Given the description of an element on the screen output the (x, y) to click on. 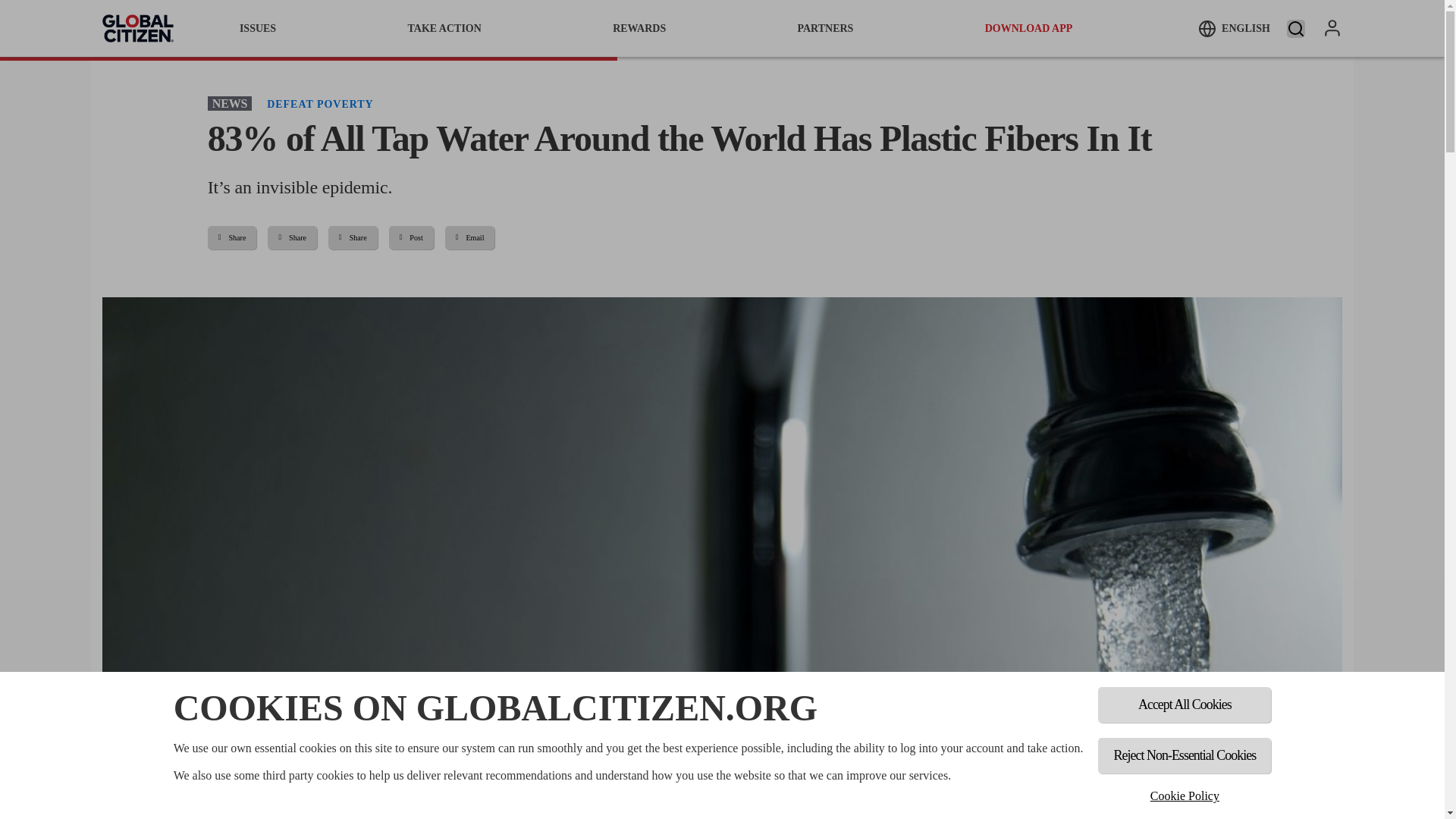
DOWNLOAD APP (1029, 28)
ENGLISH (1233, 28)
DEFEAT POVERTY (319, 103)
Defeat Poverty (319, 103)
Share (232, 237)
REWARDS (639, 28)
ISSUES (257, 28)
TAKE ACTION (444, 28)
PARTNERS (825, 28)
